Given the description of an element on the screen output the (x, y) to click on. 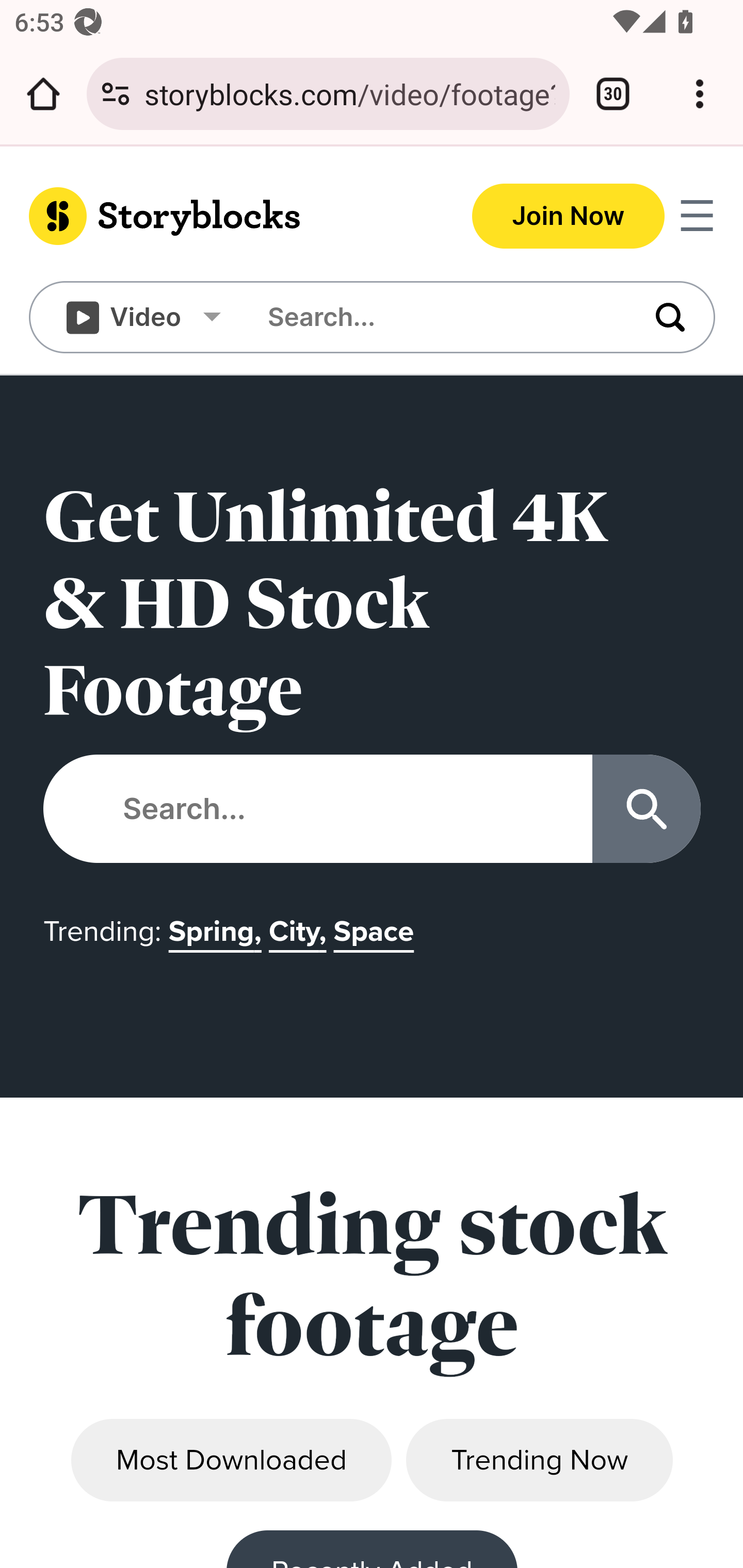
Open the home page (43, 93)
Connection is secure (115, 93)
Switch or close tabs (612, 93)
Customize and control Google Chrome (699, 93)
Join Now (568, 215)
Storyblocks Storyblocks Logo link to Home page (200, 215)
☰ (696, 215)
Submit Search (652, 316)
Submit Search (647, 808)
Spring, Spring , (217, 942)
City, City , (300, 942)
Space (377, 942)
Most Downloaded (231, 1460)
Trending Now (538, 1460)
